Given the description of an element on the screen output the (x, y) to click on. 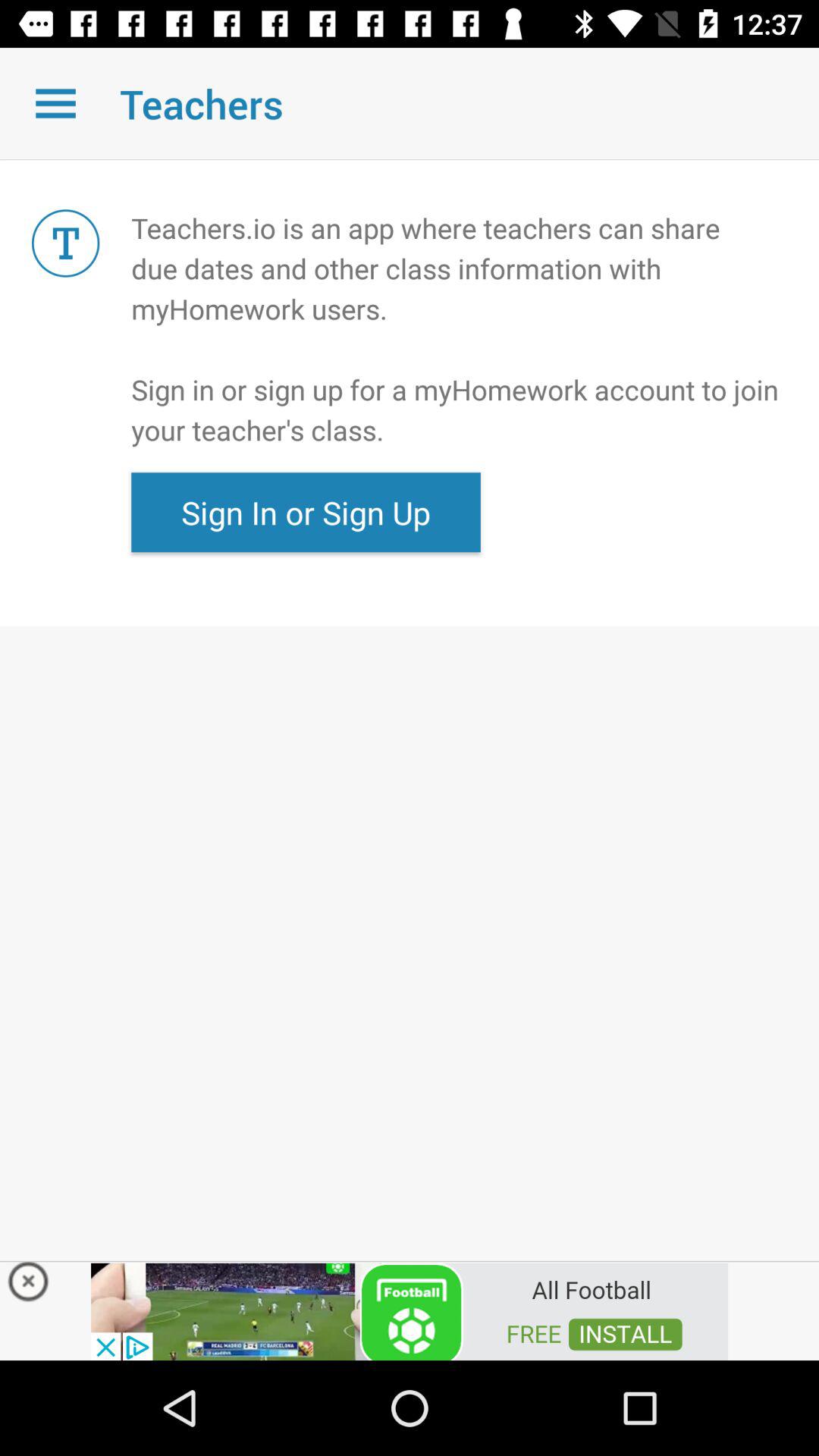
add button (409, 1310)
